Given the description of an element on the screen output the (x, y) to click on. 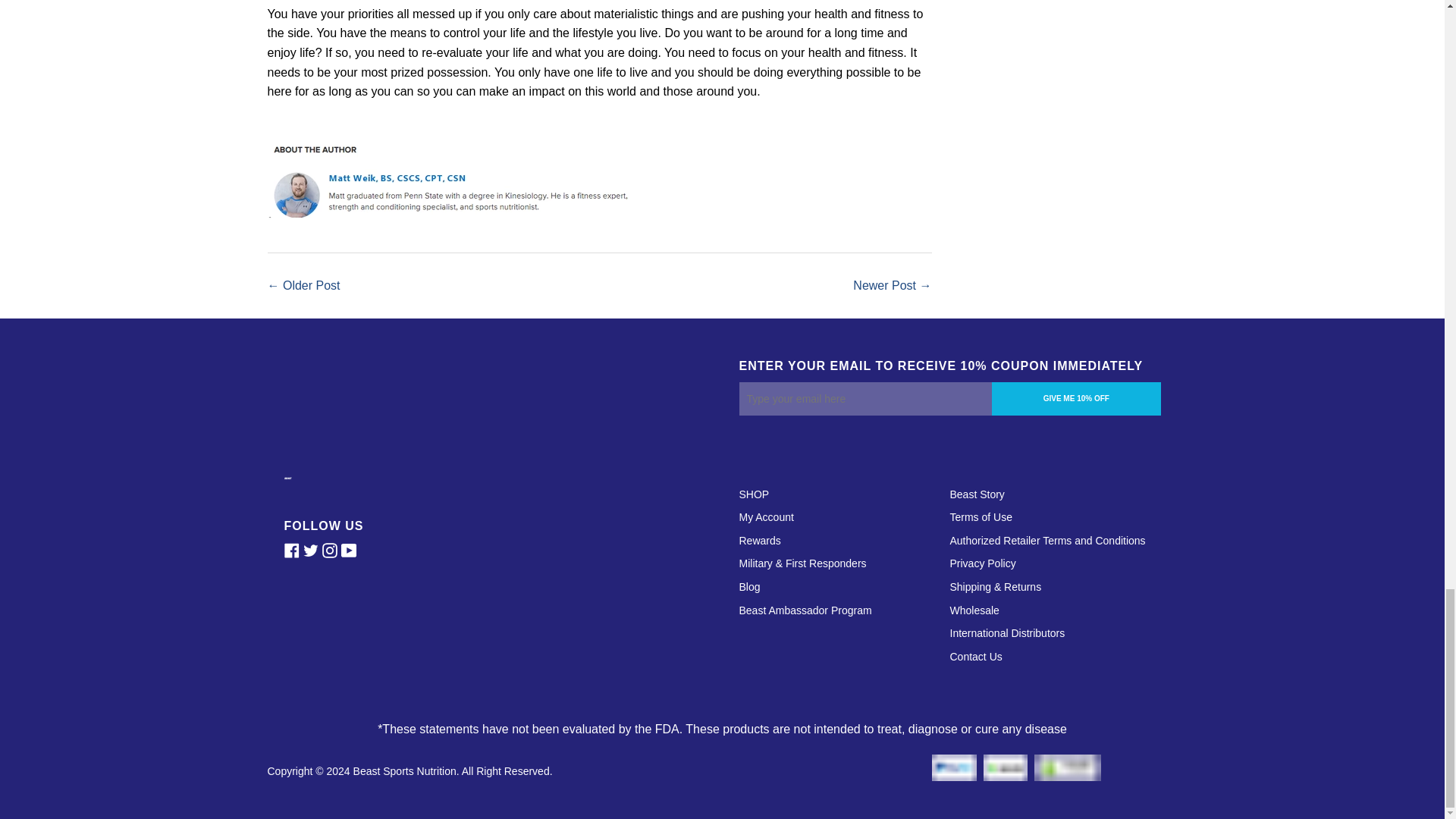
Newer Post (884, 285)
Older Post (311, 285)
icon-instagram (330, 549)
icon-youtube (349, 549)
icon-facebook (292, 549)
icon-twitter (311, 549)
